Given the description of an element on the screen output the (x, y) to click on. 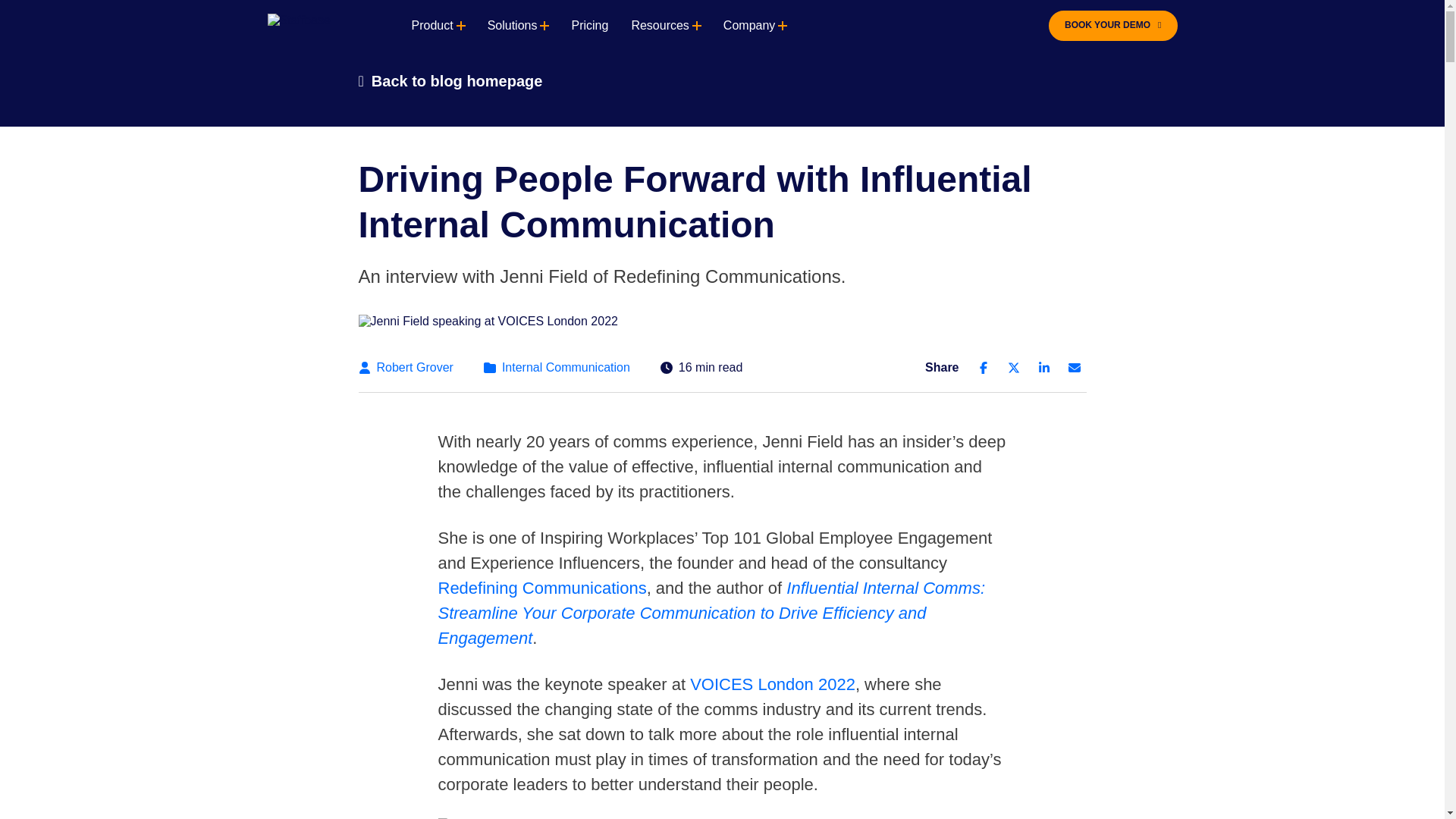
LinkedIn (1042, 367)
Twitter (1013, 367)
Solutions (512, 25)
Resources (659, 25)
Pricing (589, 25)
Email (1073, 367)
Facebook (982, 367)
Product (431, 25)
